Given the description of an element on the screen output the (x, y) to click on. 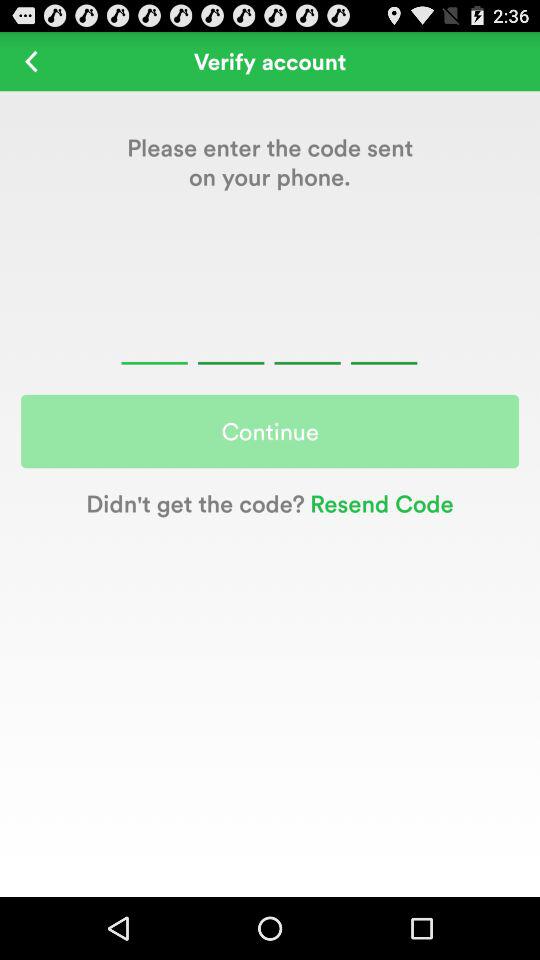
click the resend code on the right (378, 502)
